Given the description of an element on the screen output the (x, y) to click on. 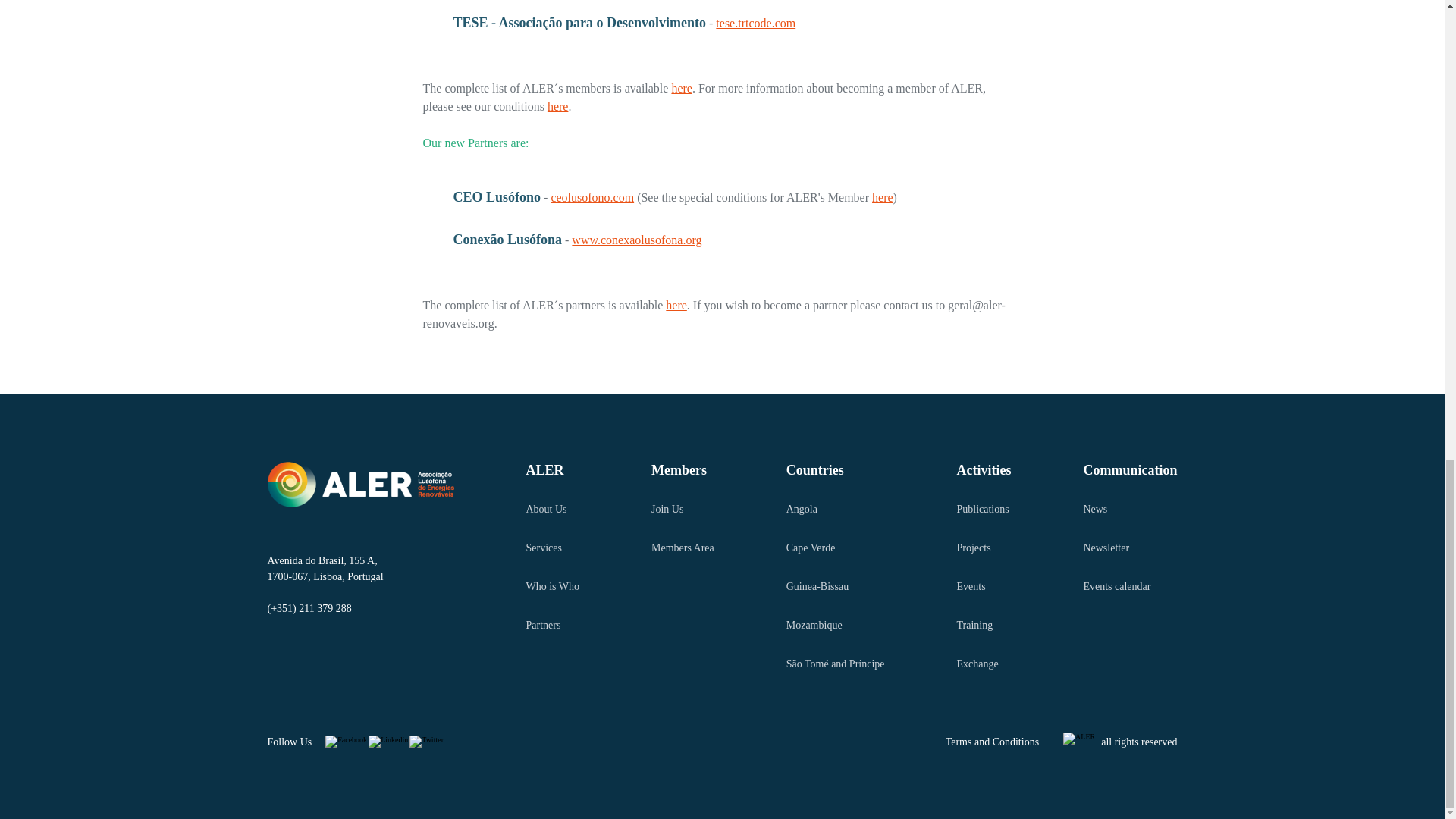
here (558, 106)
here (882, 196)
www.conexaolusofona.org (636, 239)
Twitter (426, 741)
here (682, 88)
tese.trtcode.com (755, 22)
www.cabeolica.com (604, 2)
Linkedin (387, 741)
ceolusofono.com (591, 196)
Facebook (345, 741)
